Given the description of an element on the screen output the (x, y) to click on. 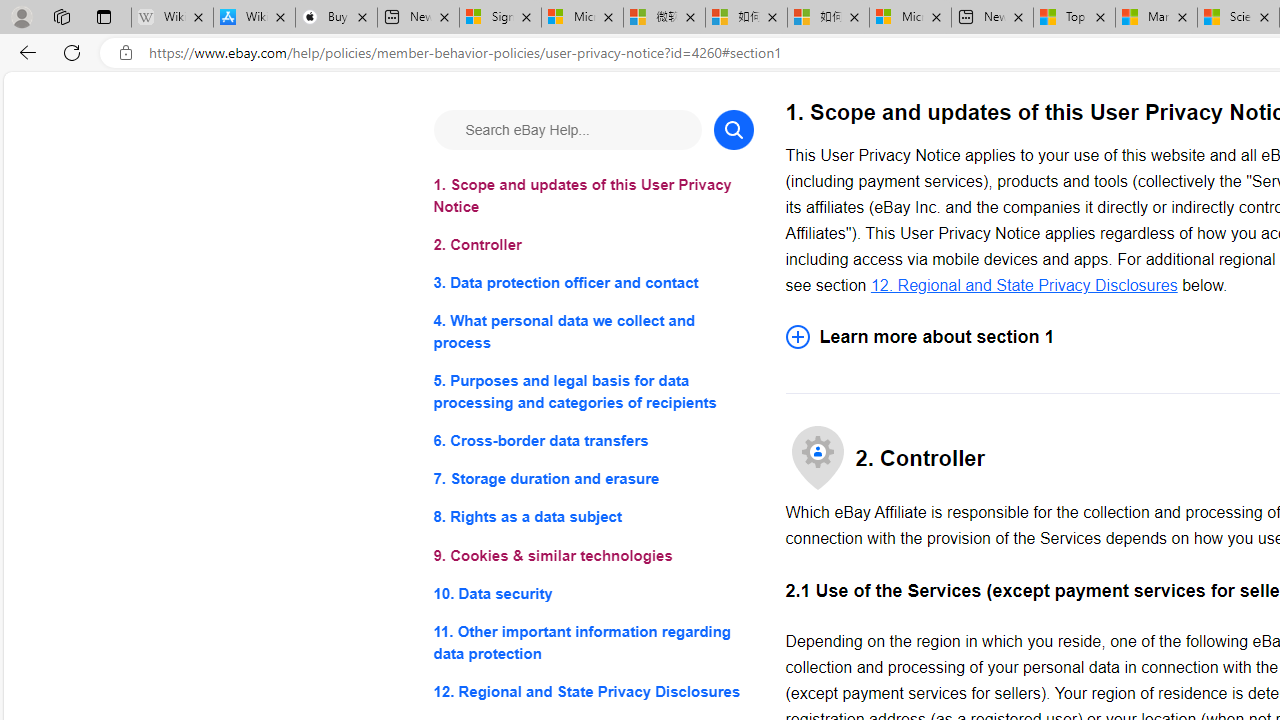
11. Other important information regarding data protection (592, 642)
Search eBay Help... (566, 129)
Buy iPad - Apple (336, 17)
8. Rights as a data subject (592, 517)
3. Data protection officer and contact (592, 283)
Marine life - MSN (1156, 17)
4. What personal data we collect and process (592, 332)
1. Scope and updates of this User Privacy Notice (592, 196)
2. Controller (592, 245)
Sign in to your Microsoft account (500, 17)
